Given the description of an element on the screen output the (x, y) to click on. 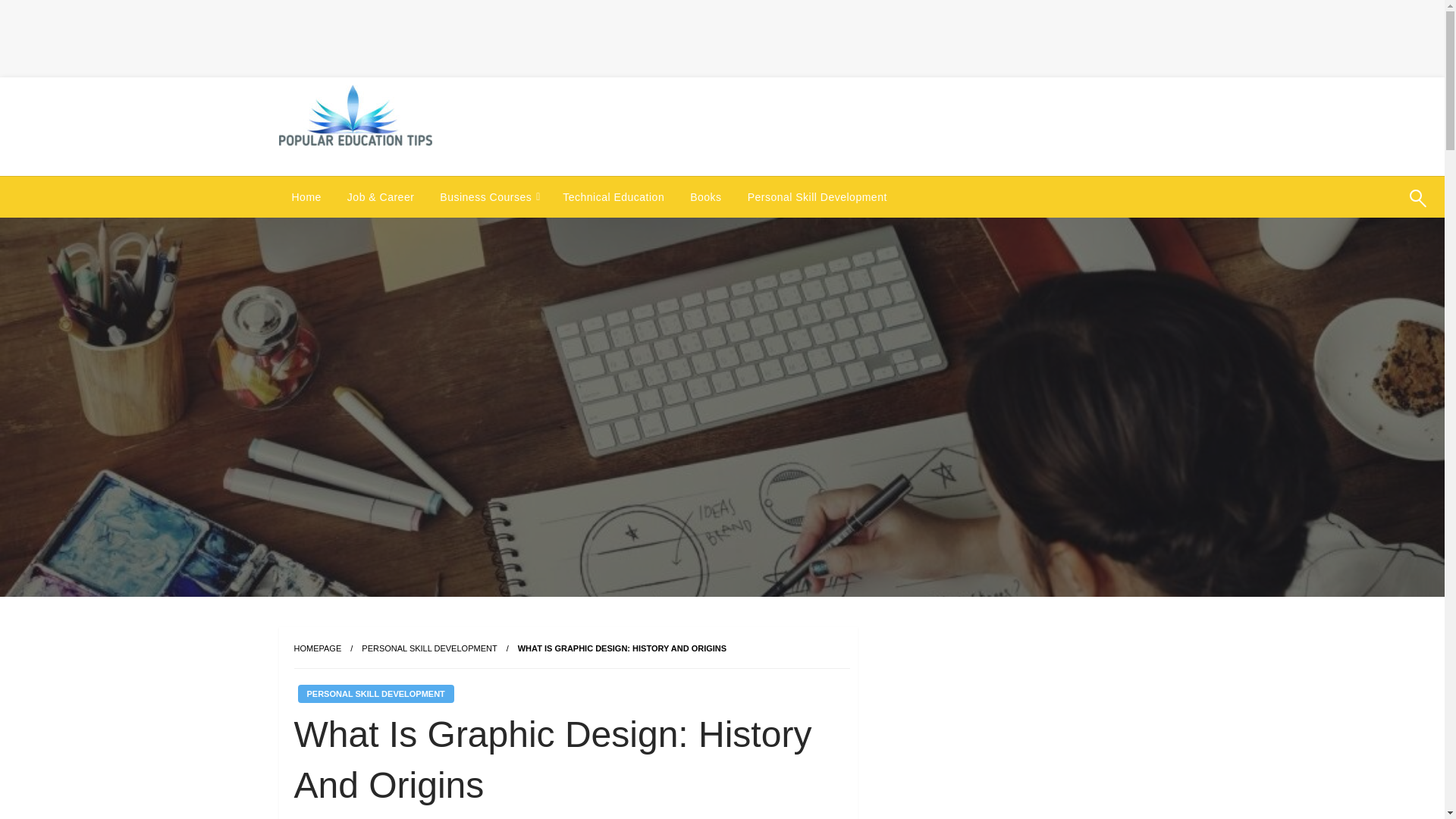
Business Courses (488, 196)
HOMEPAGE (318, 647)
What Is Graphic Design: History And Origins (622, 647)
Home (306, 196)
Homepage (318, 647)
Personal Skill Development (428, 647)
Search (1381, 208)
Advertisement (265, 36)
PERSONAL SKILL DEVELOPMENT (374, 693)
PERSONAL SKILL DEVELOPMENT (428, 647)
